Given the description of an element on the screen output the (x, y) to click on. 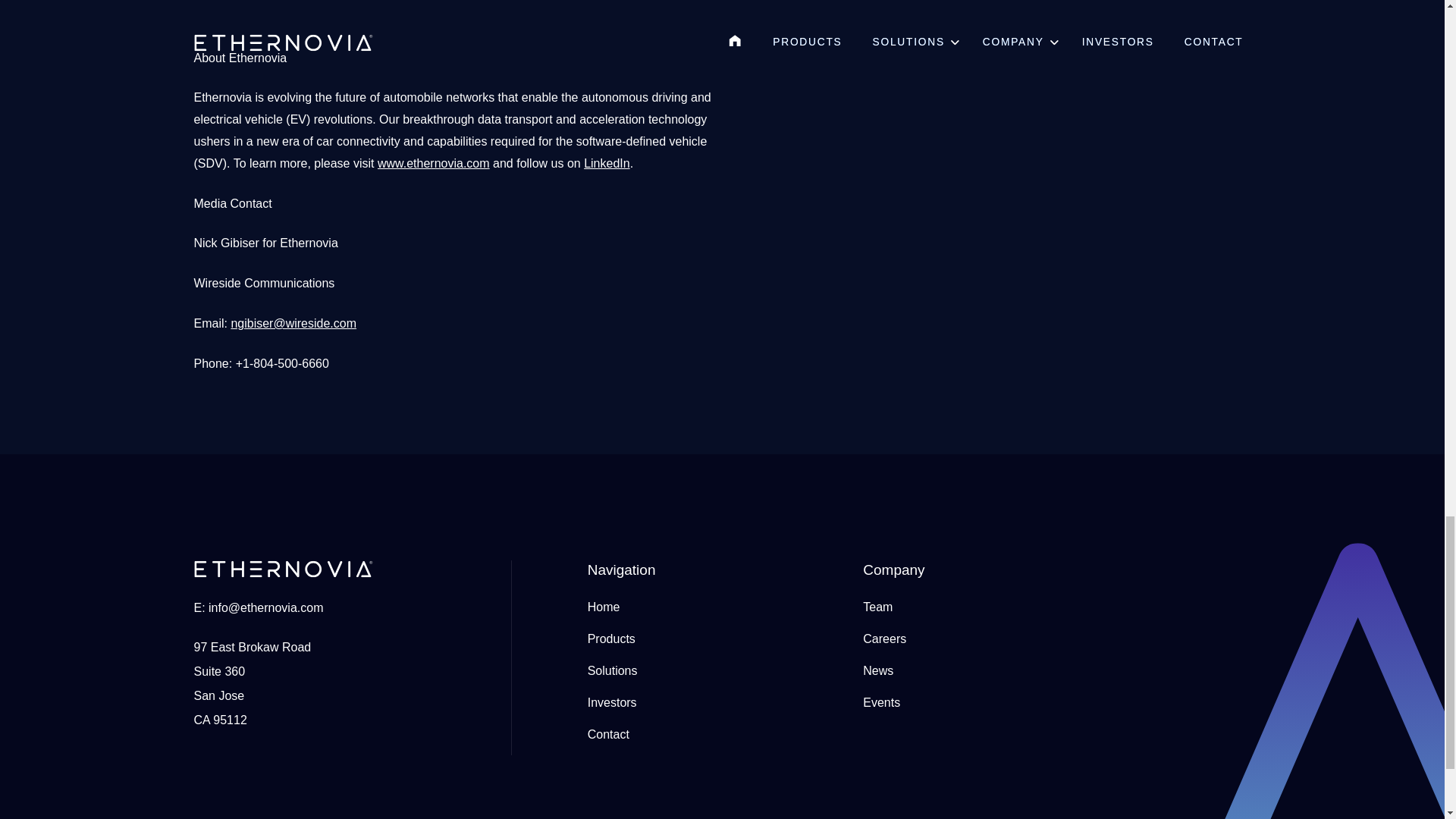
LinkedIn (606, 163)
Contact (608, 734)
Products (611, 638)
www.ethernovia.com (433, 163)
Solutions (612, 670)
Investors (612, 702)
Home (604, 606)
Team (877, 606)
